Given the description of an element on the screen output the (x, y) to click on. 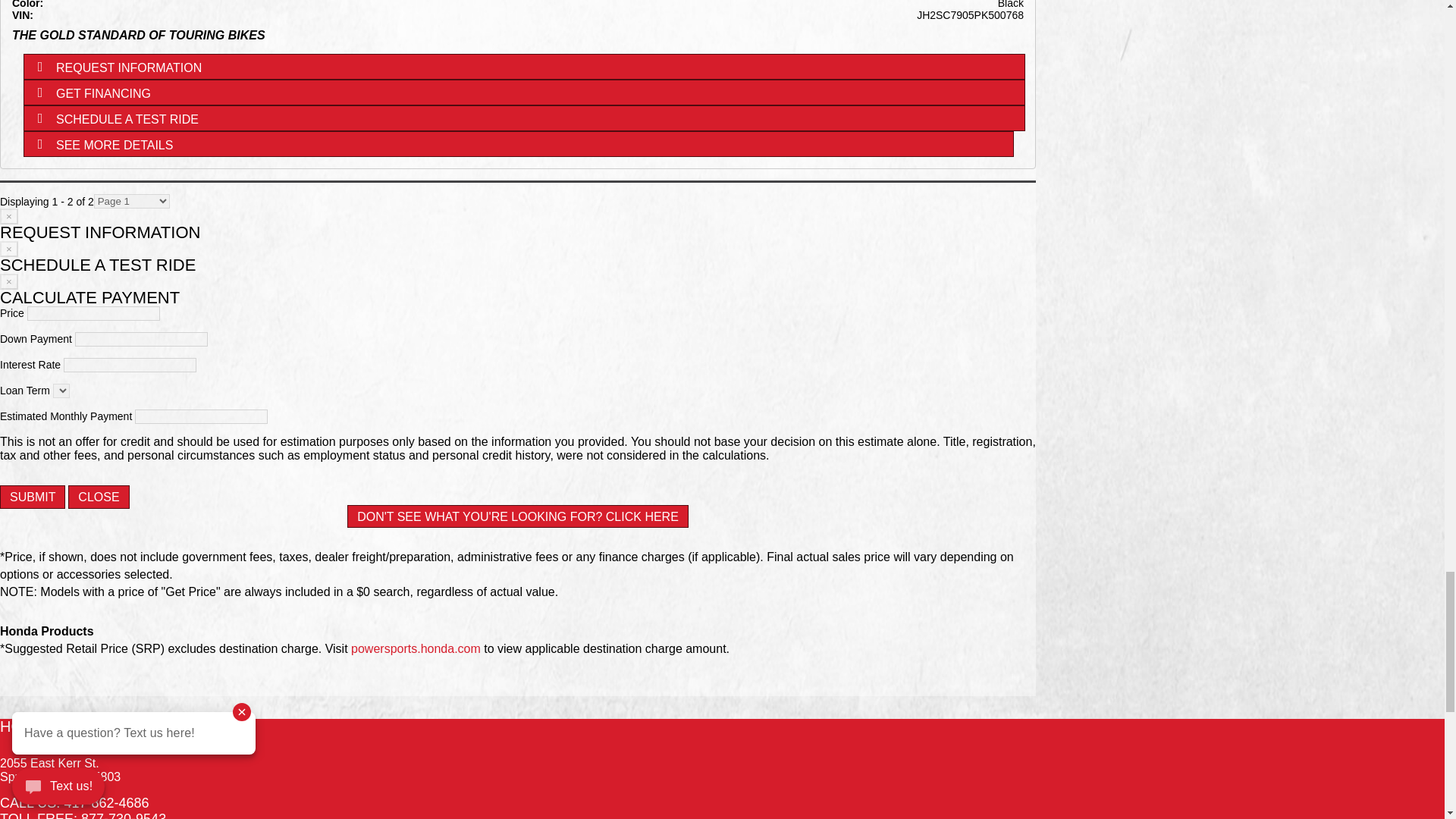
Schedule a Test Ride (524, 118)
Get Financing (524, 92)
Request Information (524, 66)
See More Details (518, 144)
